Given the description of an element on the screen output the (x, y) to click on. 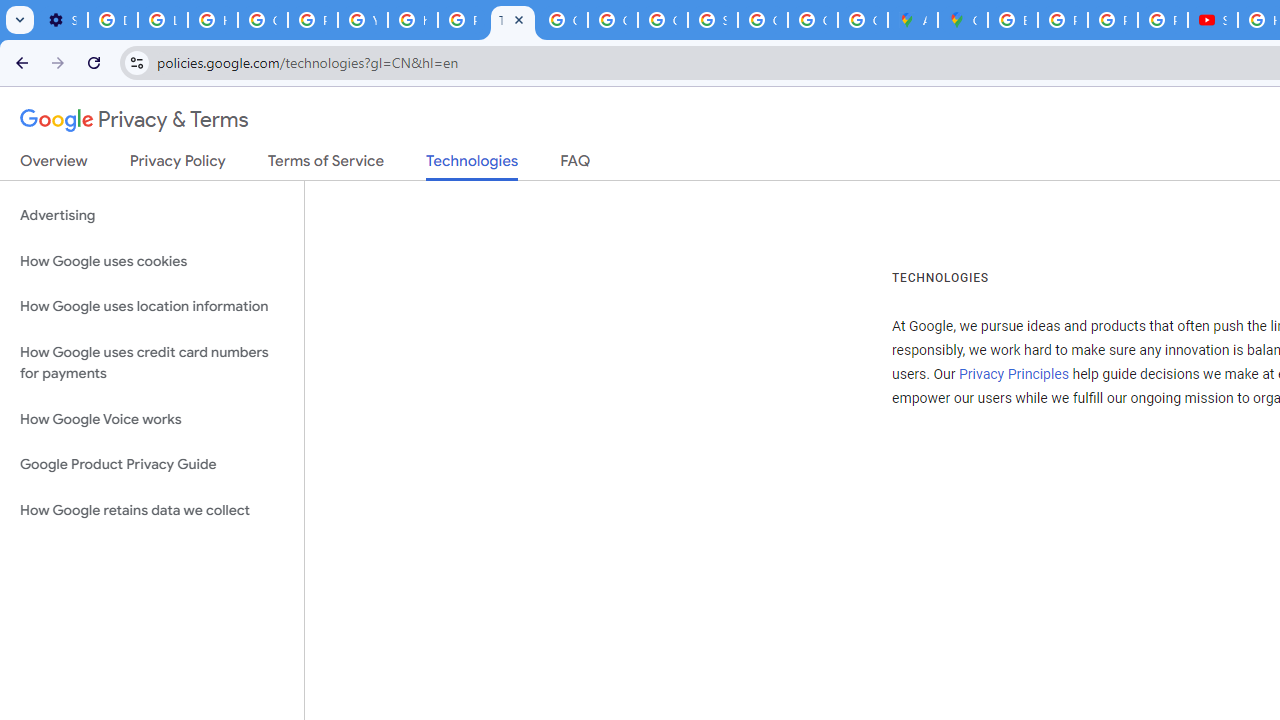
Sign in - Google Accounts (712, 20)
Privacy Principles (1013, 374)
YouTube (362, 20)
Google Maps (963, 20)
Privacy Help Center - Policies Help (1112, 20)
Privacy Help Center - Policies Help (312, 20)
Settings - Customize profile (62, 20)
Advertising (152, 215)
How Google uses location information (152, 306)
